Given the description of an element on the screen output the (x, y) to click on. 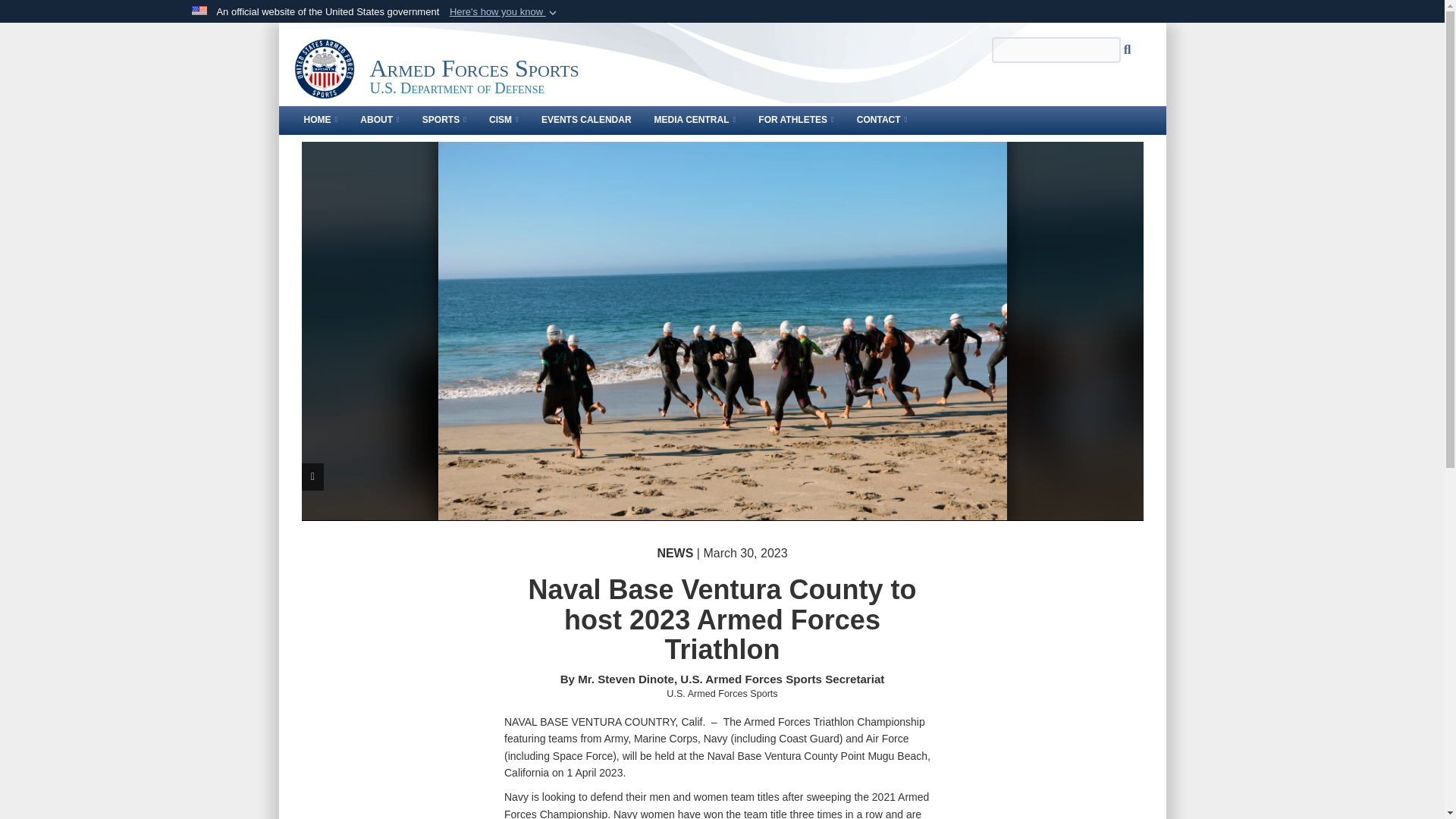
Armed Forces Sports (324, 68)
HOME (320, 120)
ABOUT (379, 120)
SPORTS (443, 120)
